Given the description of an element on the screen output the (x, y) to click on. 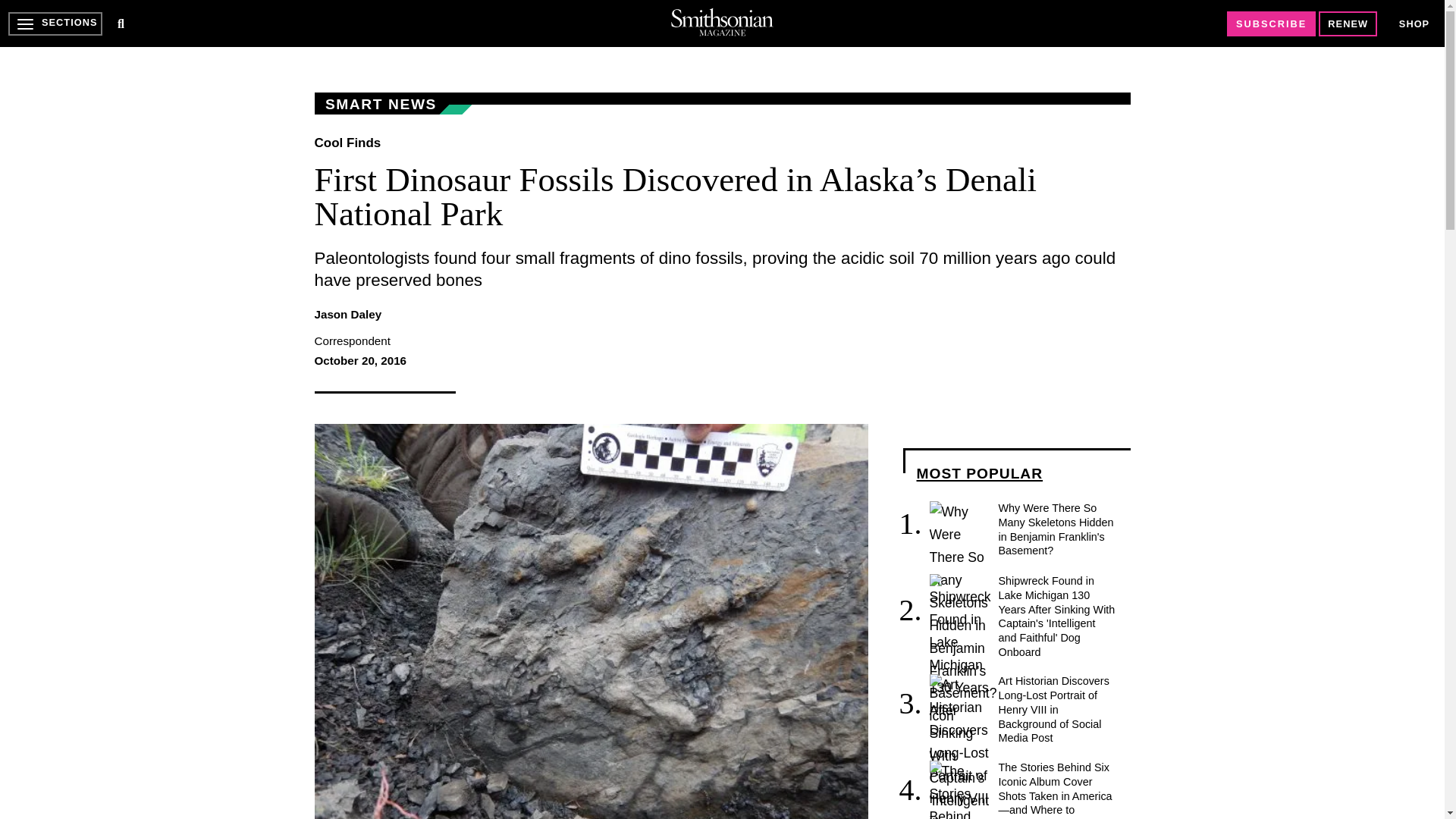
SHOP (1414, 23)
SUBSCRIBE (1271, 23)
RENEW (1347, 23)
SECTIONS (55, 23)
SUBSCRIBE (1271, 23)
SHOP (1413, 23)
RENEW (1348, 23)
